Given the description of an element on the screen output the (x, y) to click on. 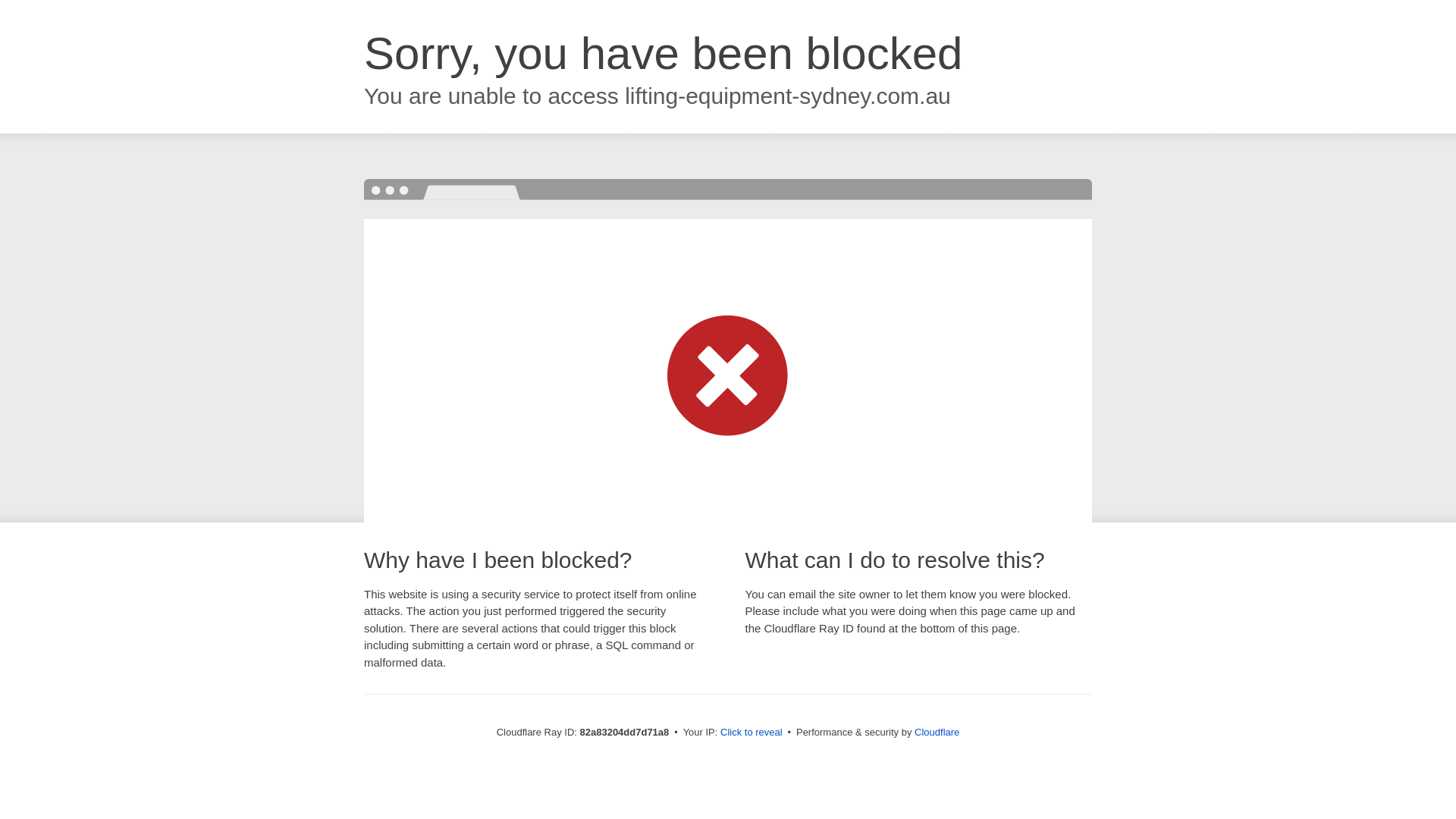
Cloudflare Element type: text (936, 731)
Click to reveal Element type: text (751, 732)
